Given the description of an element on the screen output the (x, y) to click on. 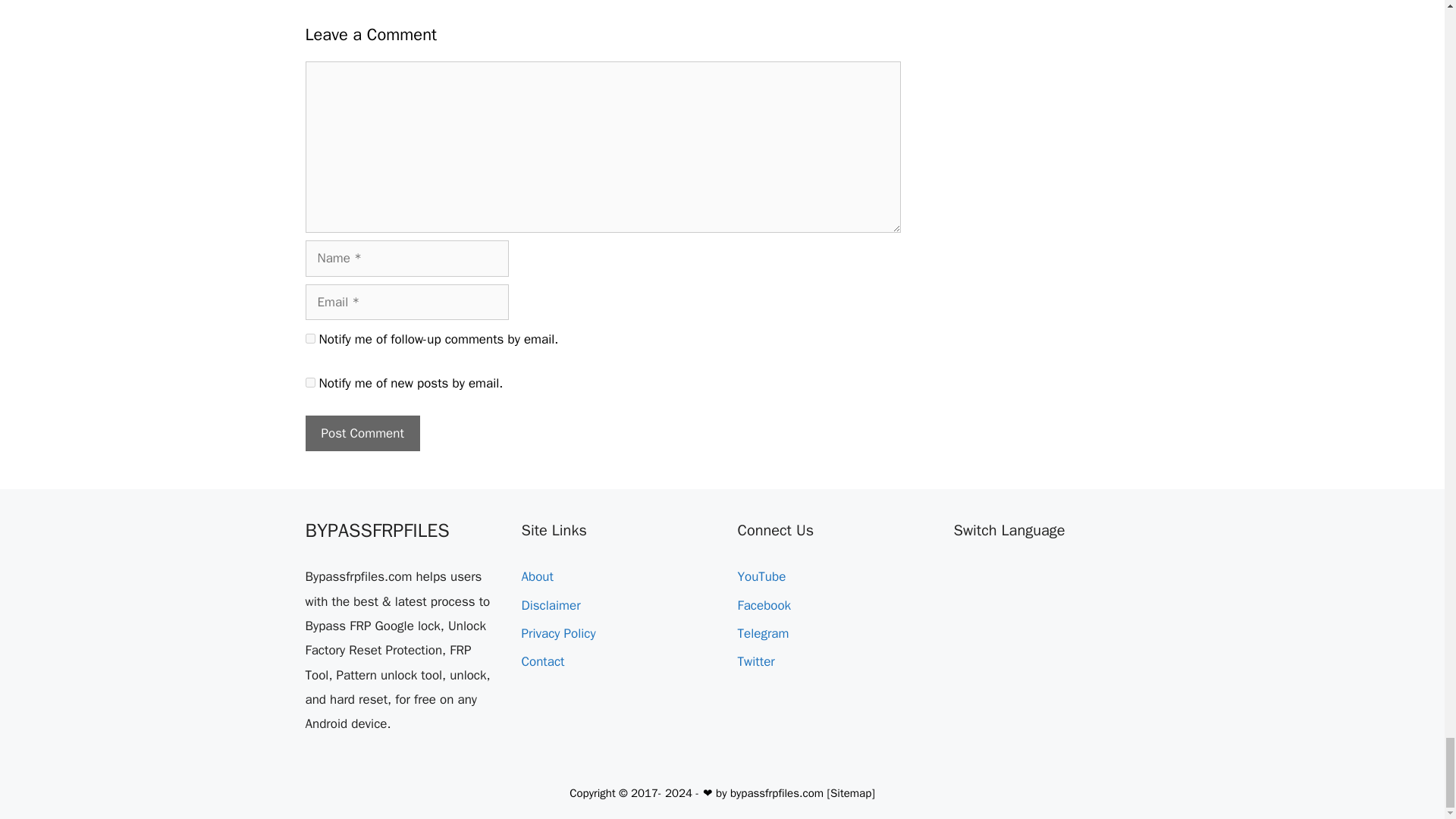
Post Comment (361, 433)
subscribe (309, 338)
subscribe (309, 382)
Post Comment (361, 433)
